Given the description of an element on the screen output the (x, y) to click on. 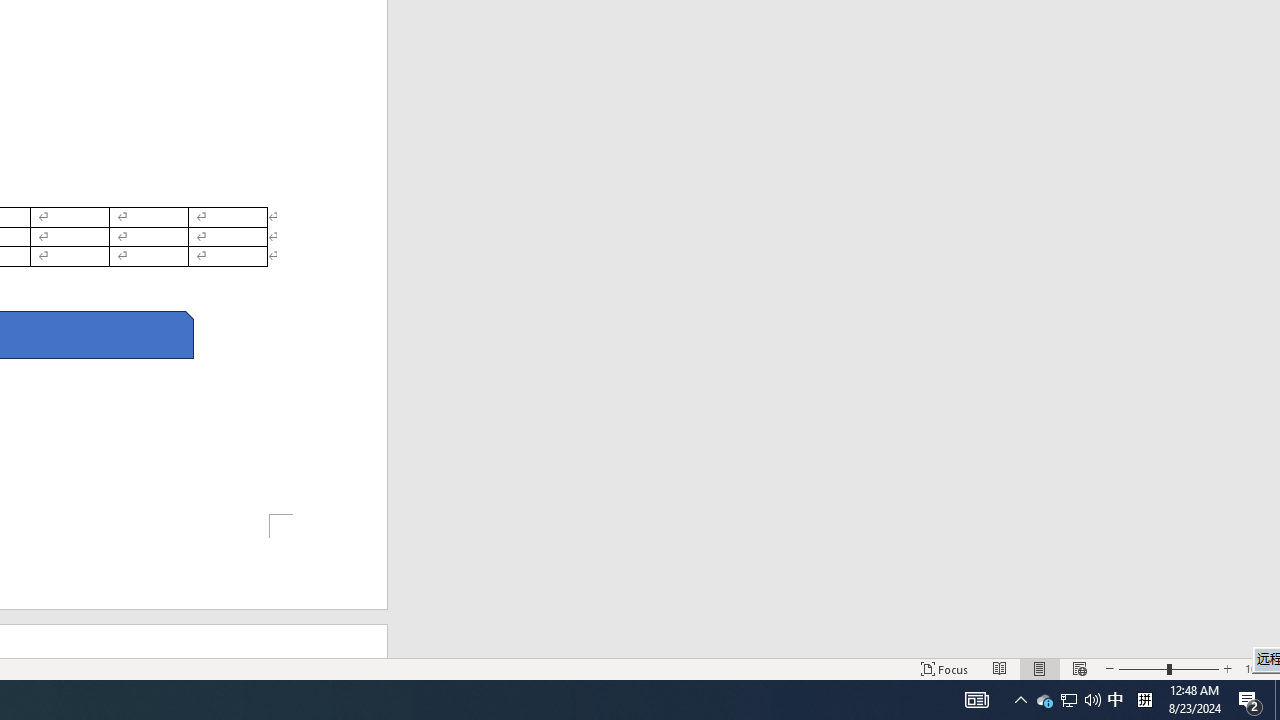
Zoom 100% (1258, 668)
